Given the description of an element on the screen output the (x, y) to click on. 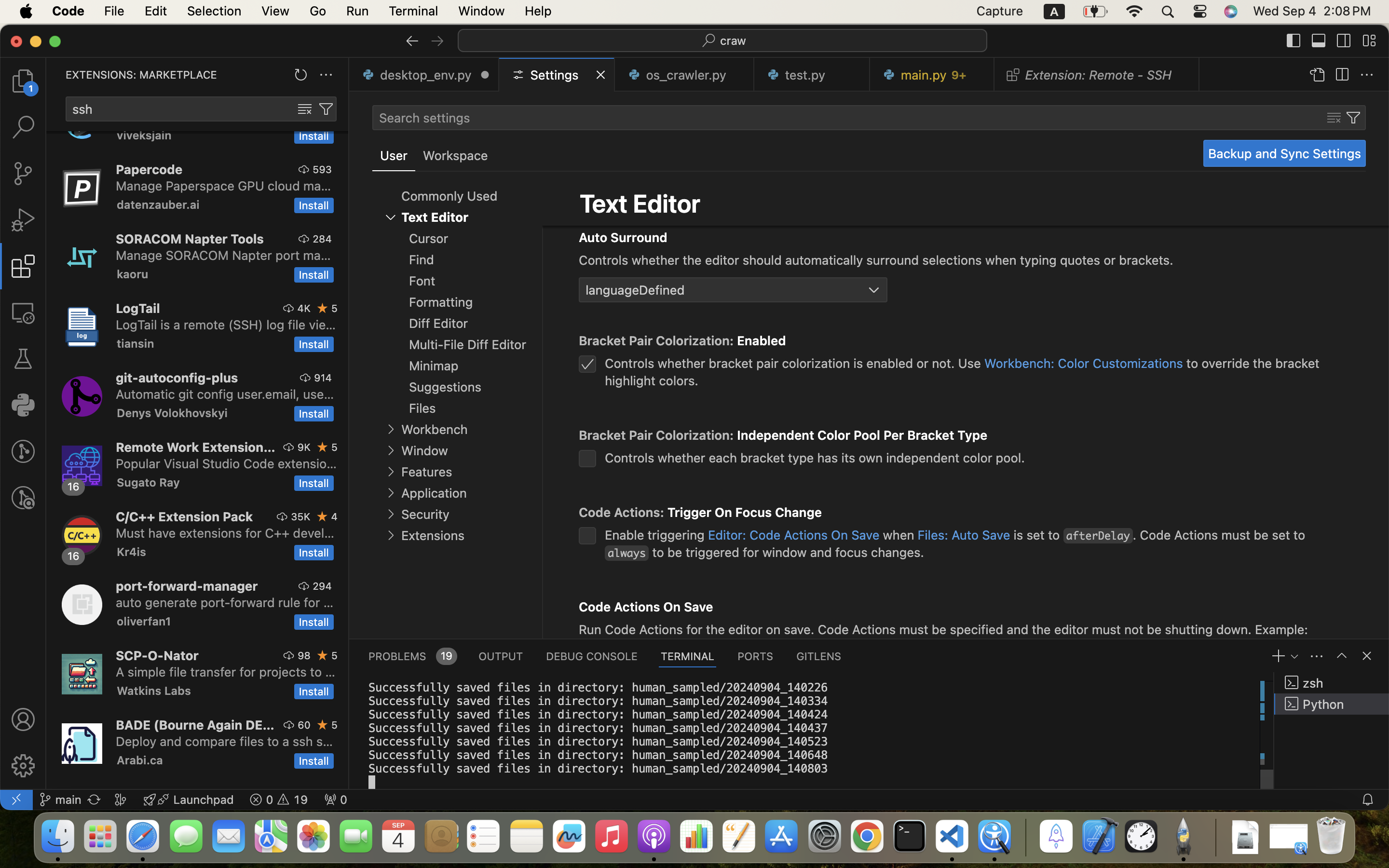
BADE (Bourne Again DEploy) Element type: AXStaticText (194, 724)
 Element type: AXButton (1341, 74)
Watkins Labs Element type: AXStaticText (153, 690)
 Element type: AXStaticText (554, 235)
0 desktop_env.py   Element type: AXRadioButton (424, 74)
